Given the description of an element on the screen output the (x, y) to click on. 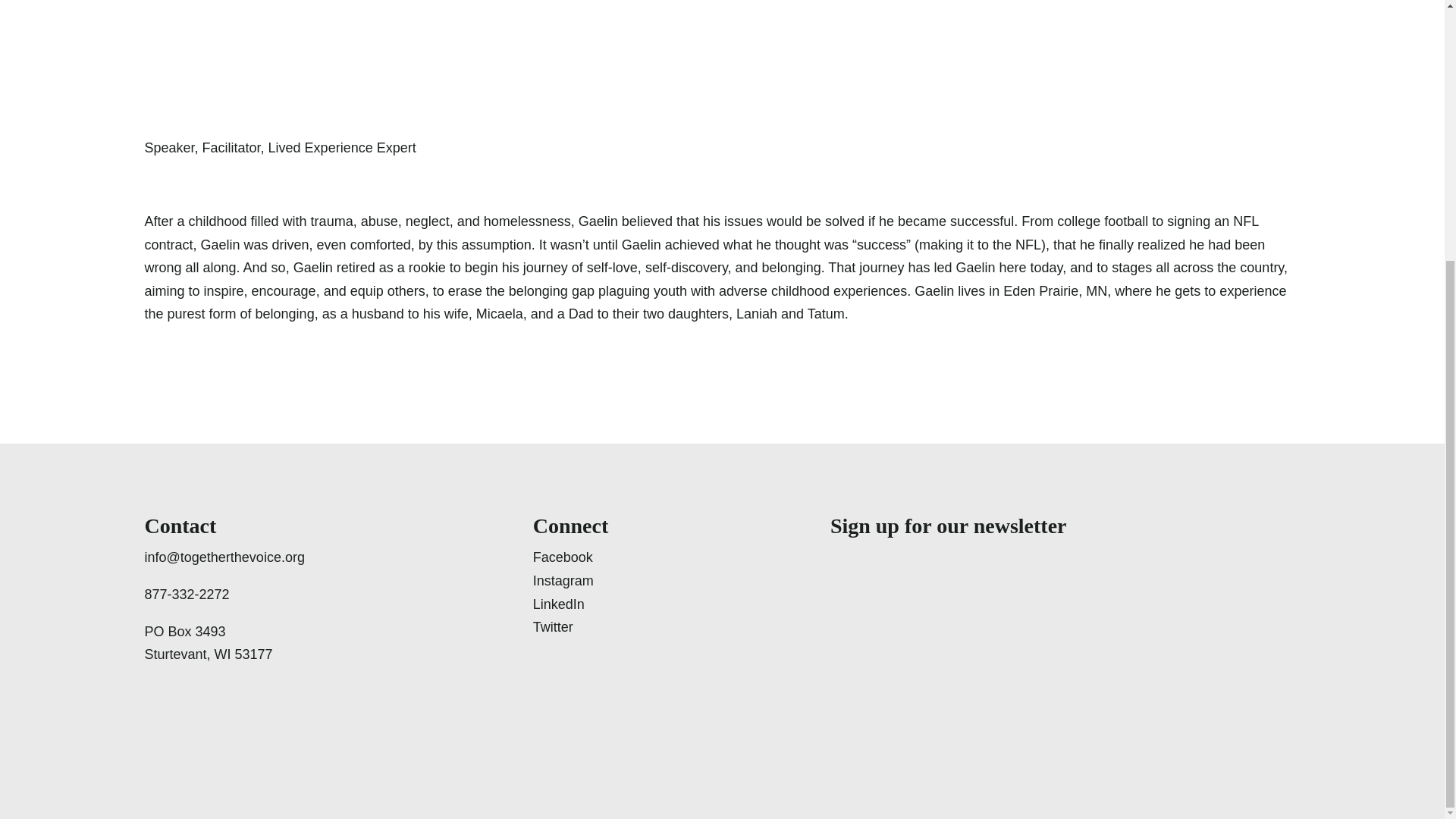
Facebook (570, 557)
LinkedIn (570, 604)
Follow us (570, 580)
877-332-2272 (224, 594)
Instagram (570, 580)
Visit us (570, 557)
Read more (570, 604)
Follow us (570, 627)
